Given the description of an element on the screen output the (x, y) to click on. 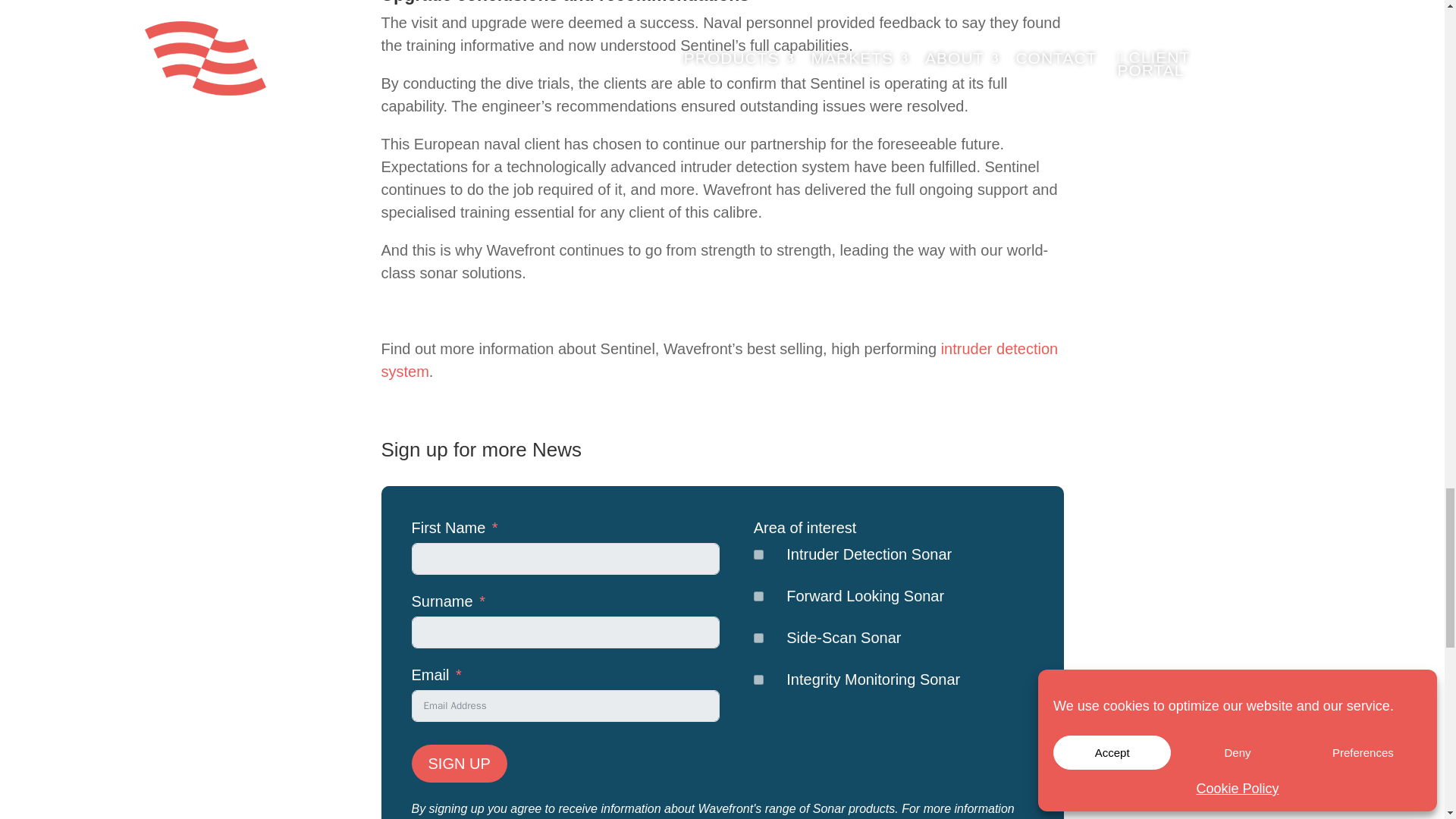
true (758, 554)
true (758, 679)
true (758, 637)
true (758, 596)
